Given the description of an element on the screen output the (x, y) to click on. 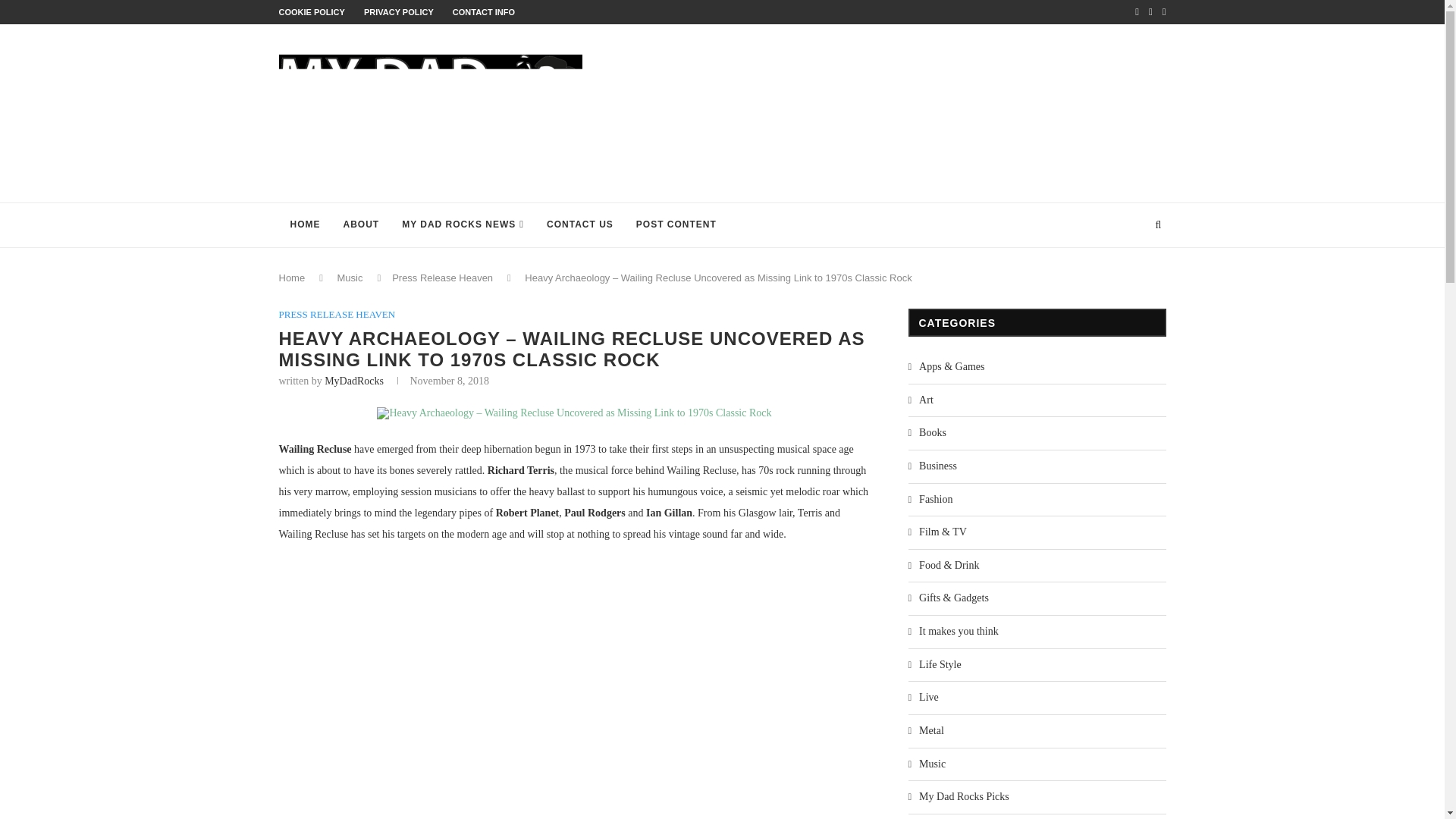
HOME (305, 225)
CONTACT INFO (483, 11)
ABOUT (361, 225)
PRIVACY POLICY (398, 11)
Advertisement (874, 113)
MY DAD ROCKS NEWS (462, 225)
COOKIE POLICY (312, 11)
